Given the description of an element on the screen output the (x, y) to click on. 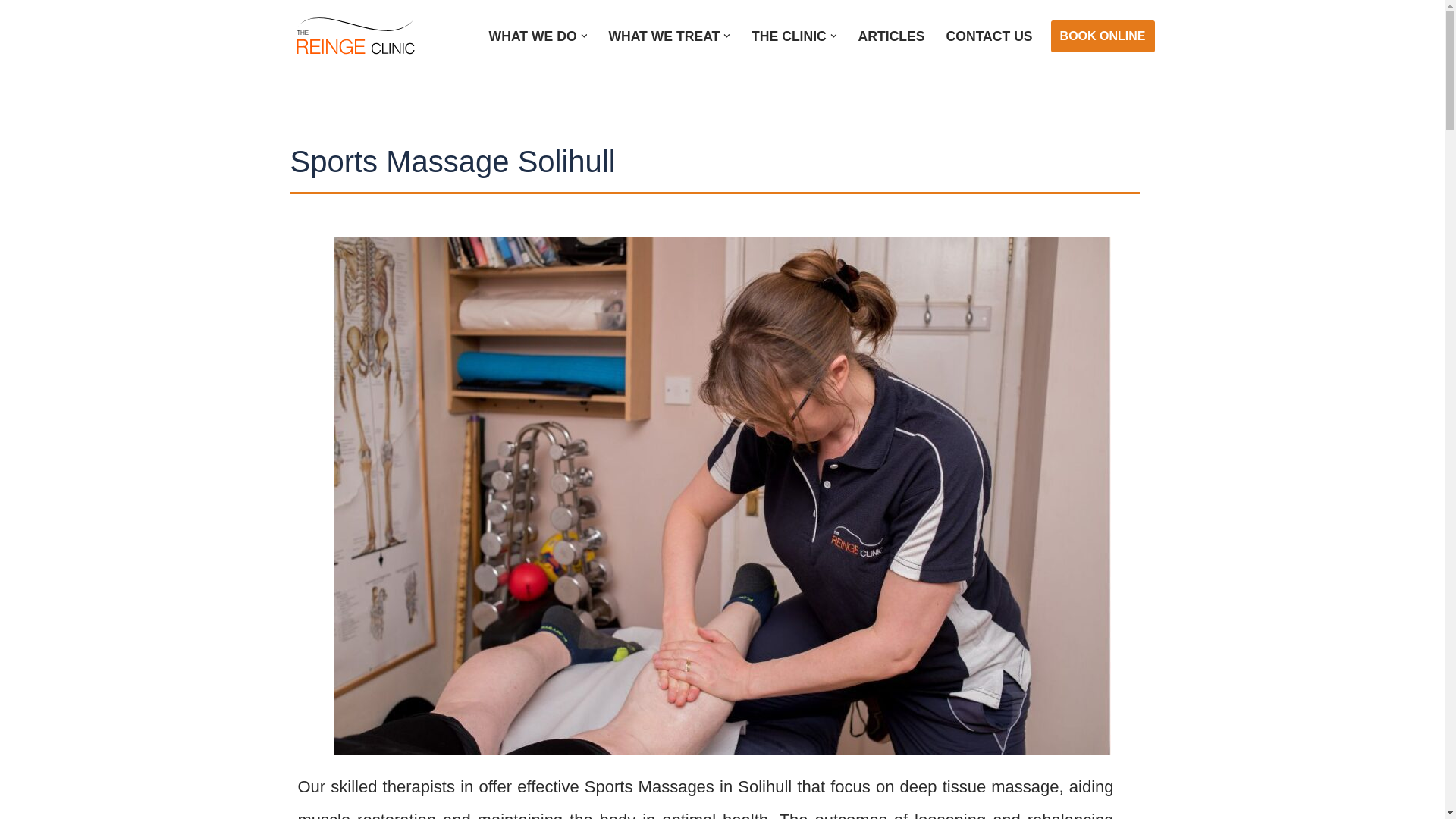
BOOK ONLINE (1102, 36)
WHAT WE TREAT (663, 35)
ARTICLES (891, 35)
CONTACT US (989, 35)
WHAT WE DO (532, 35)
THE CLINIC (789, 35)
Skip to content (11, 31)
